Given the description of an element on the screen output the (x, y) to click on. 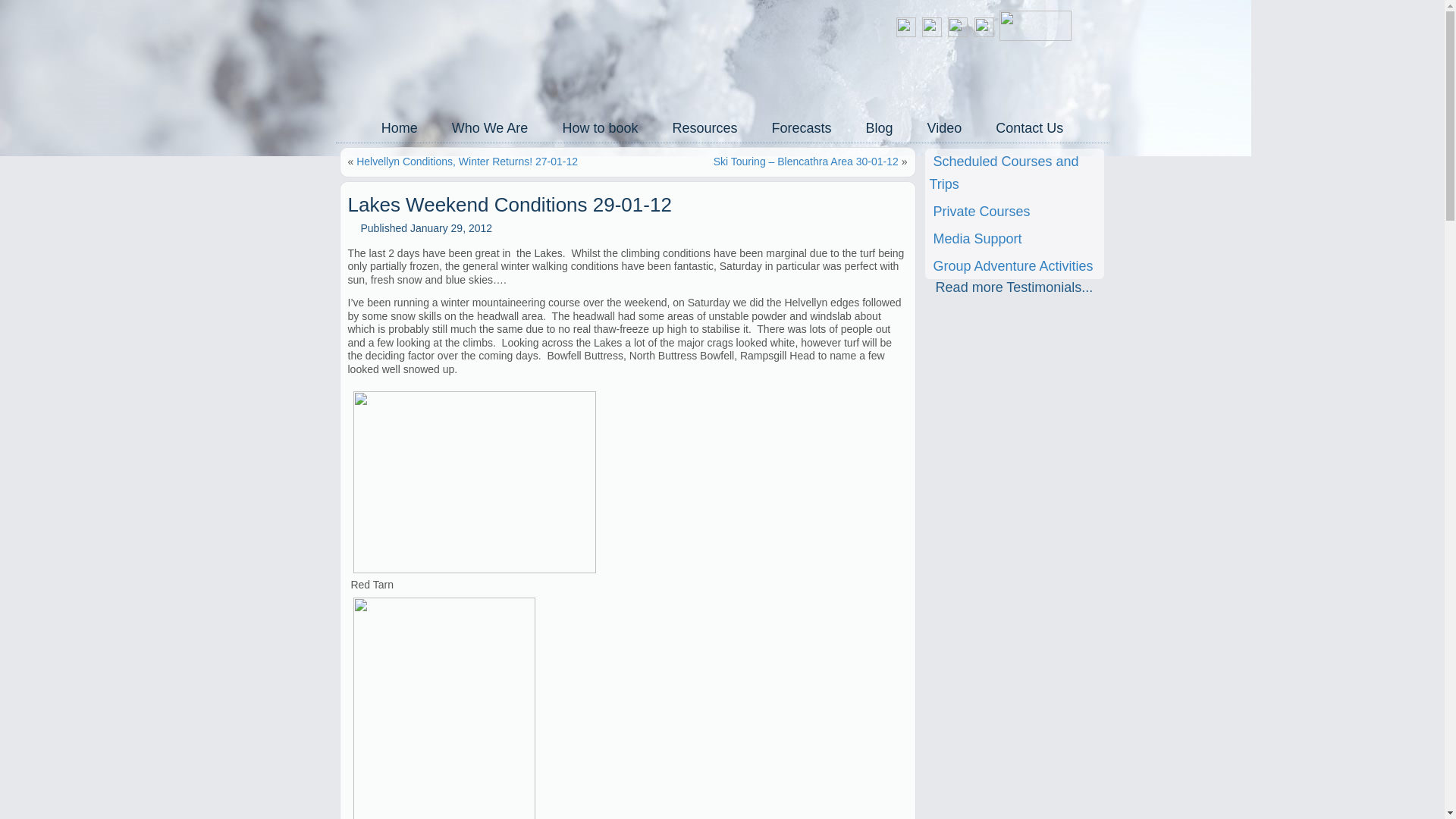
Resources (704, 127)
Helvellyn Conditions, Winter Returns! 27-01-12 (467, 161)
How to book (599, 127)
Video (944, 127)
Who We Are (490, 127)
Private Courses (1013, 211)
Video (944, 127)
8:15 pm (451, 227)
Home (399, 127)
Home (399, 127)
